Given the description of an element on the screen output the (x, y) to click on. 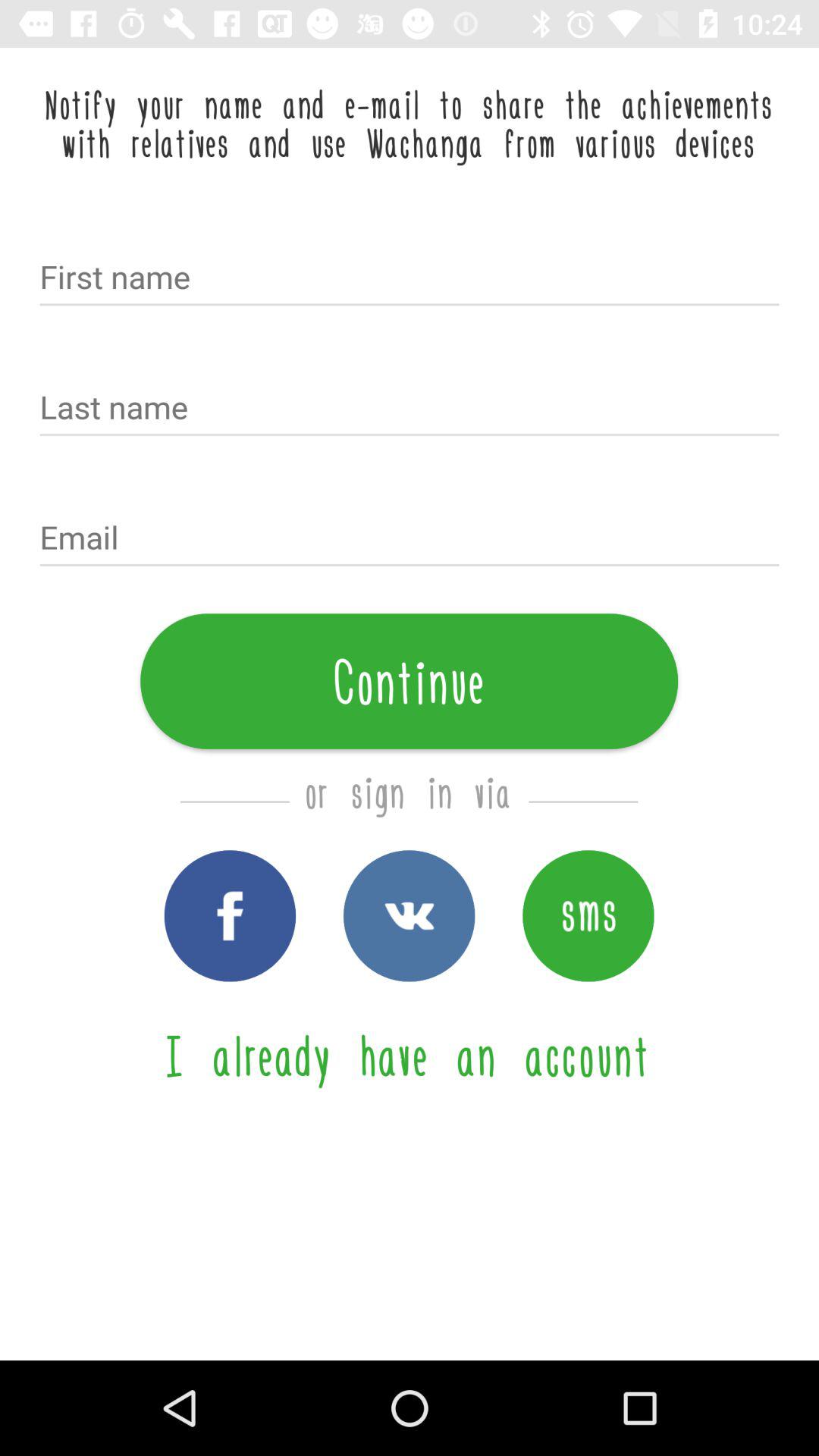
enter email address (409, 539)
